Given the description of an element on the screen output the (x, y) to click on. 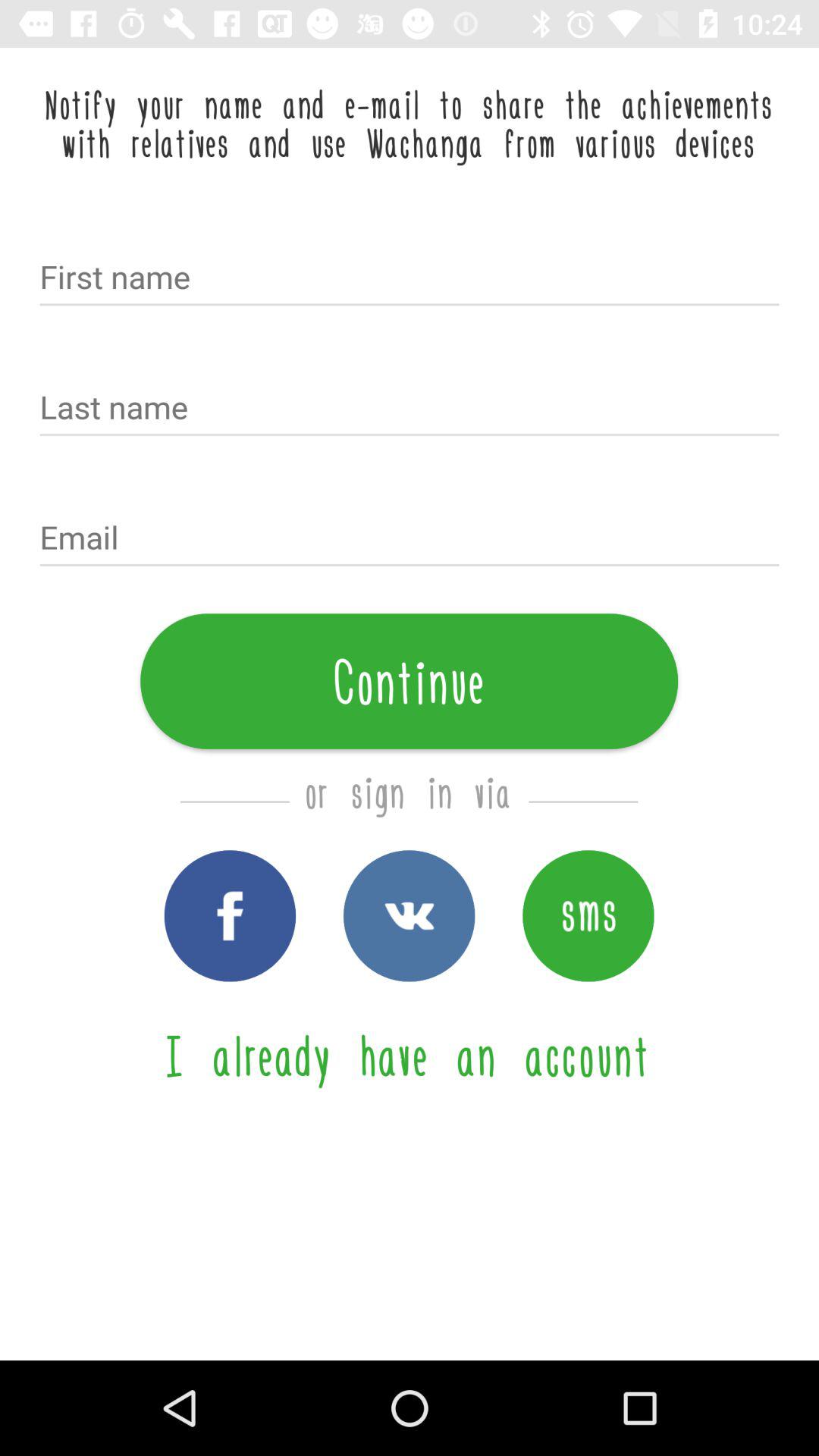
enter email address (409, 539)
